Given the description of an element on the screen output the (x, y) to click on. 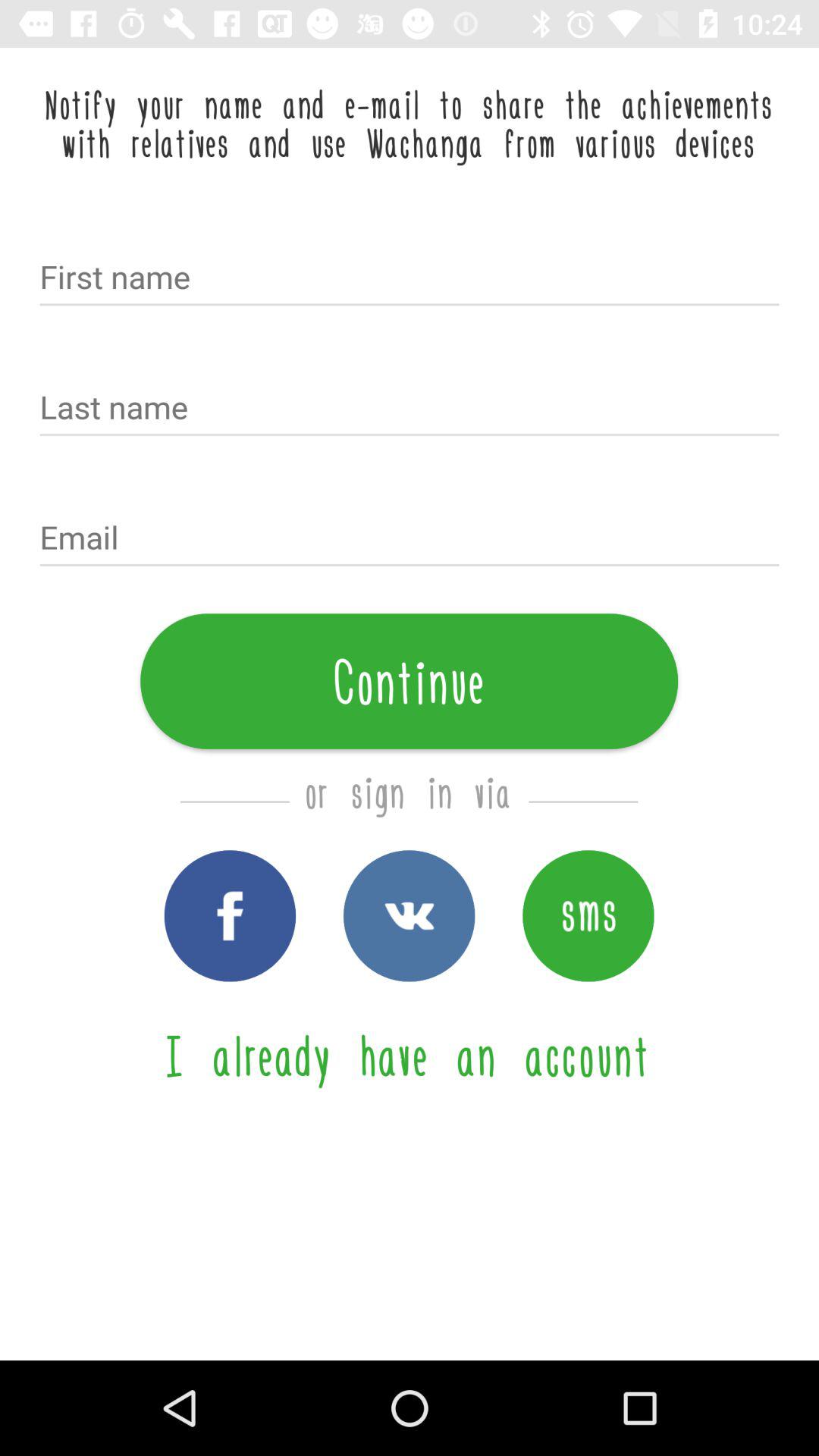
enter email address (409, 539)
